Given the description of an element on the screen output the (x, y) to click on. 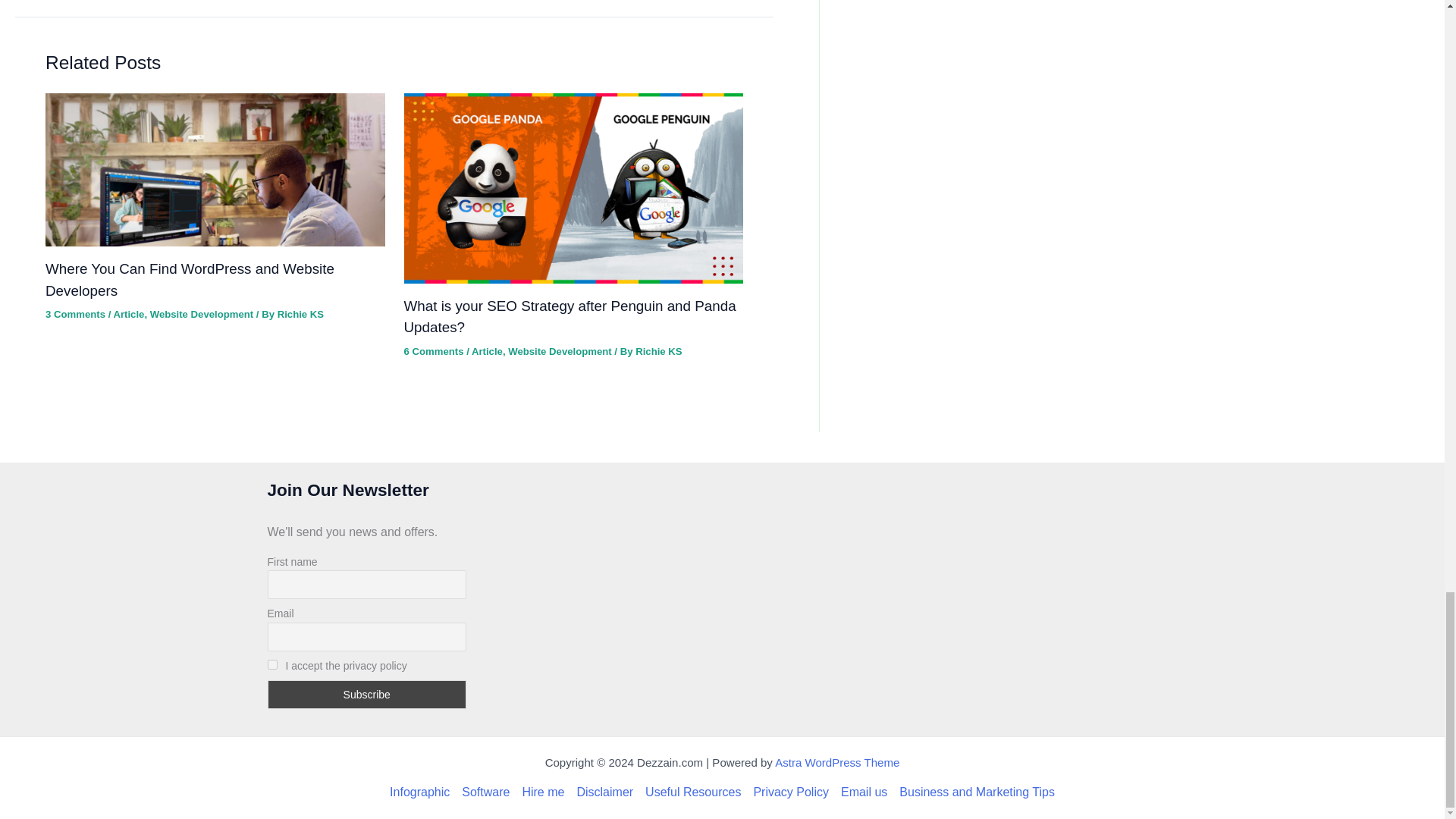
on (271, 664)
Read our privacy policy terms (790, 792)
View all posts by Richie KS (300, 314)
Subscribe (365, 694)
View all posts by Richie KS (657, 351)
Hire Richie for Custom Work (542, 792)
Where You Can Find WordPress and Website Developers (189, 279)
